Given the description of an element on the screen output the (x, y) to click on. 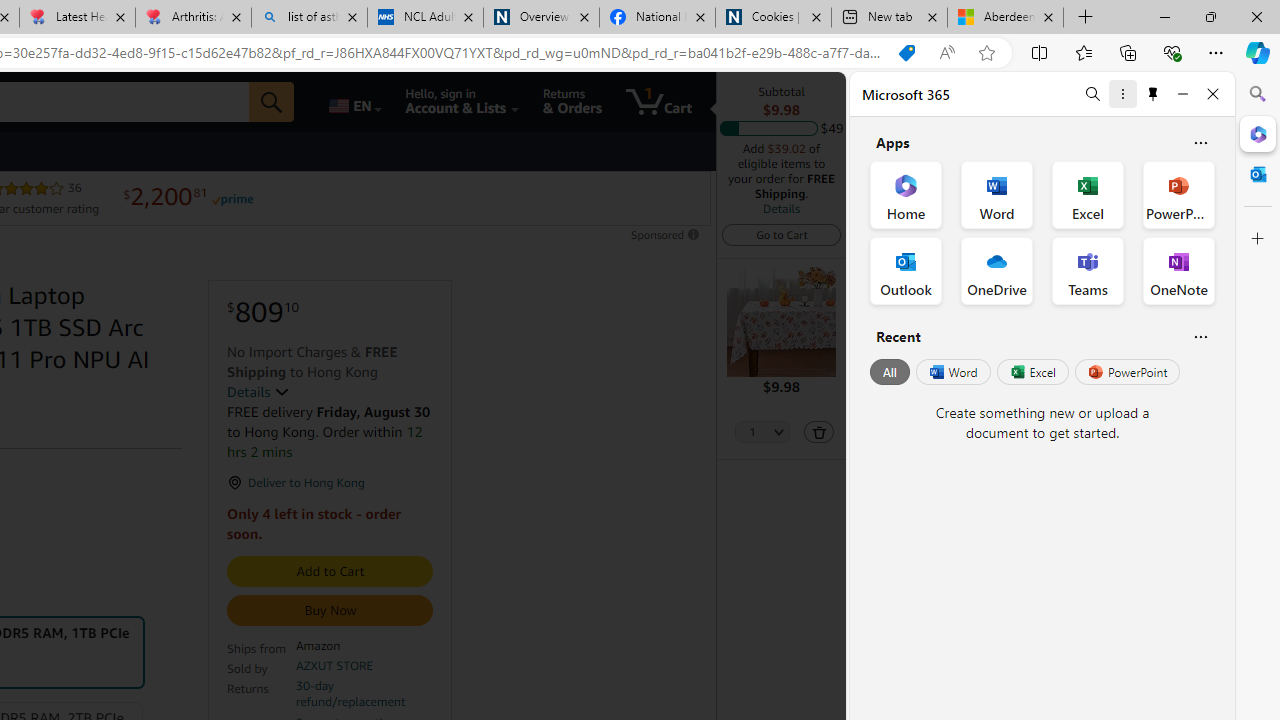
You have the best price! (906, 53)
Outlook Office App (906, 270)
PowerPoint (1127, 372)
list of asthma inhalers uk - Search (309, 17)
Unpin side pane (1153, 93)
NCL Adult Asthma Inhaler Choice Guideline (424, 17)
All (890, 372)
Choose a language for shopping. (353, 101)
Quantity Selector (762, 433)
Add to Cart (329, 571)
Details (781, 208)
